Given the description of an element on the screen output the (x, y) to click on. 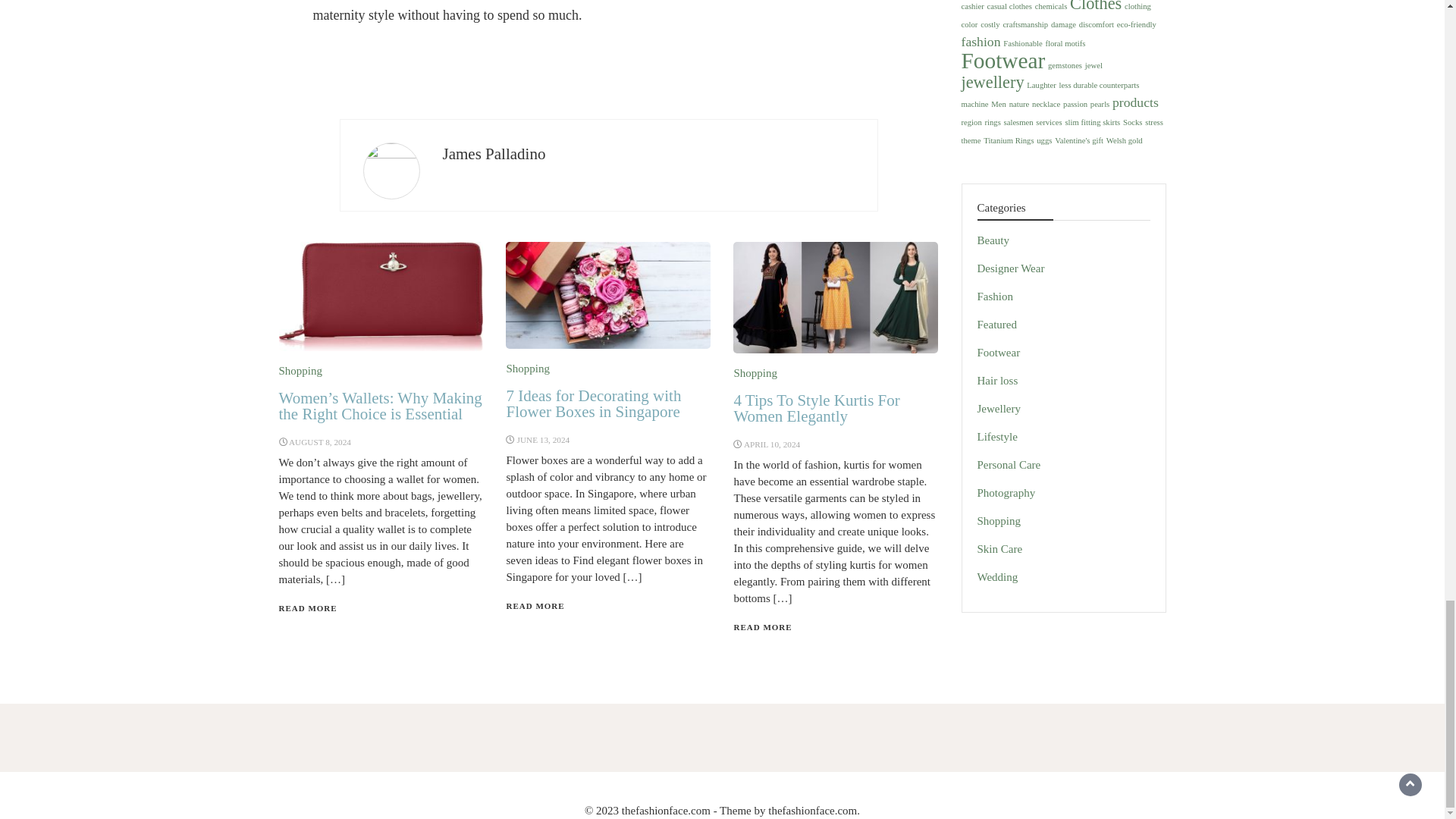
JUNE 13, 2024 (543, 439)
Shopping (755, 372)
READ MORE (534, 605)
Shopping (527, 368)
7 Ideas for Decorating with Flower Boxes in Singapore (593, 403)
James Palladino (494, 153)
READ MORE (308, 607)
AUGUST 8, 2024 (319, 441)
Shopping (301, 370)
